Given the description of an element on the screen output the (x, y) to click on. 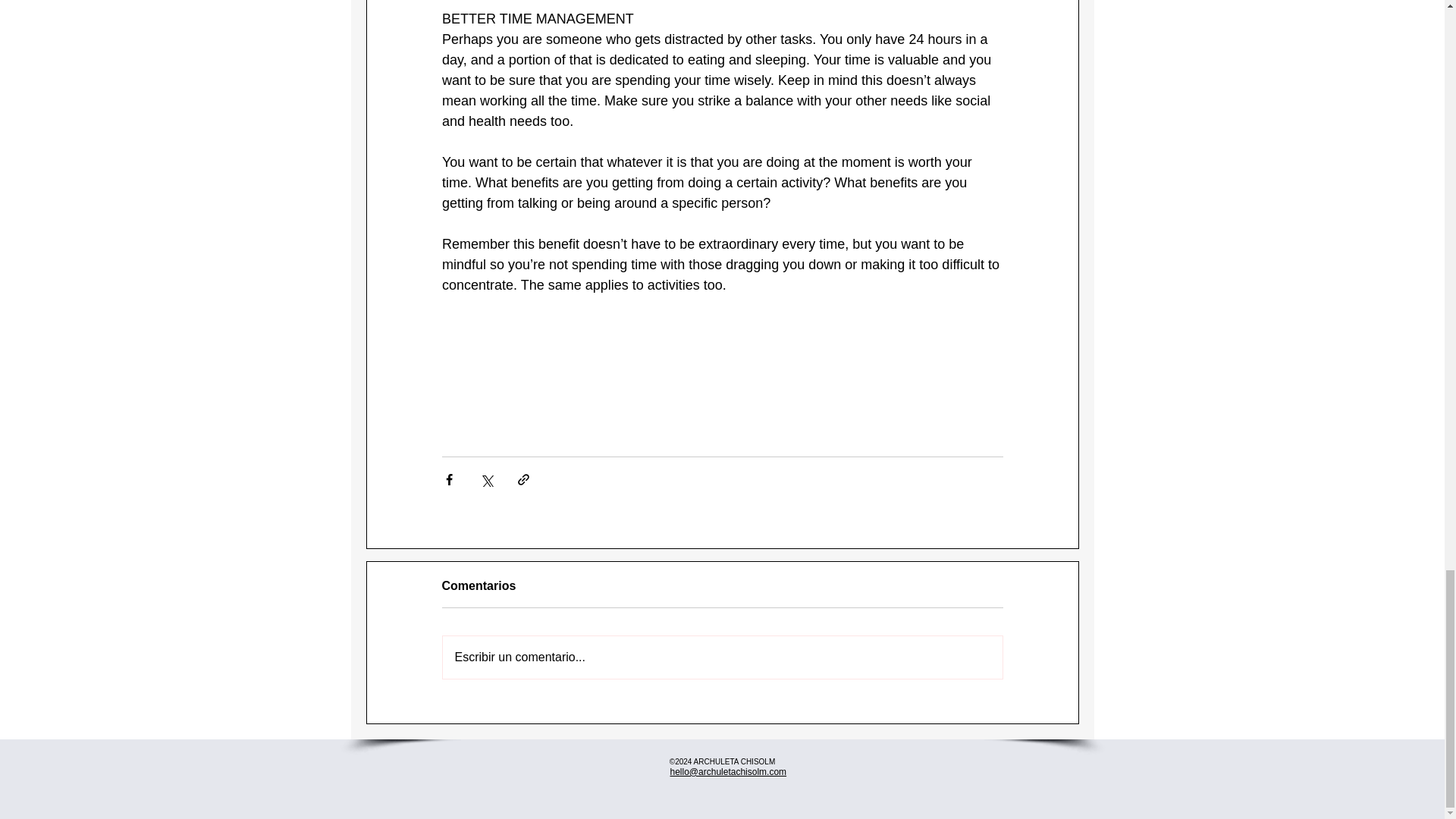
Escribir un comentario... (722, 657)
